Given the description of an element on the screen output the (x, y) to click on. 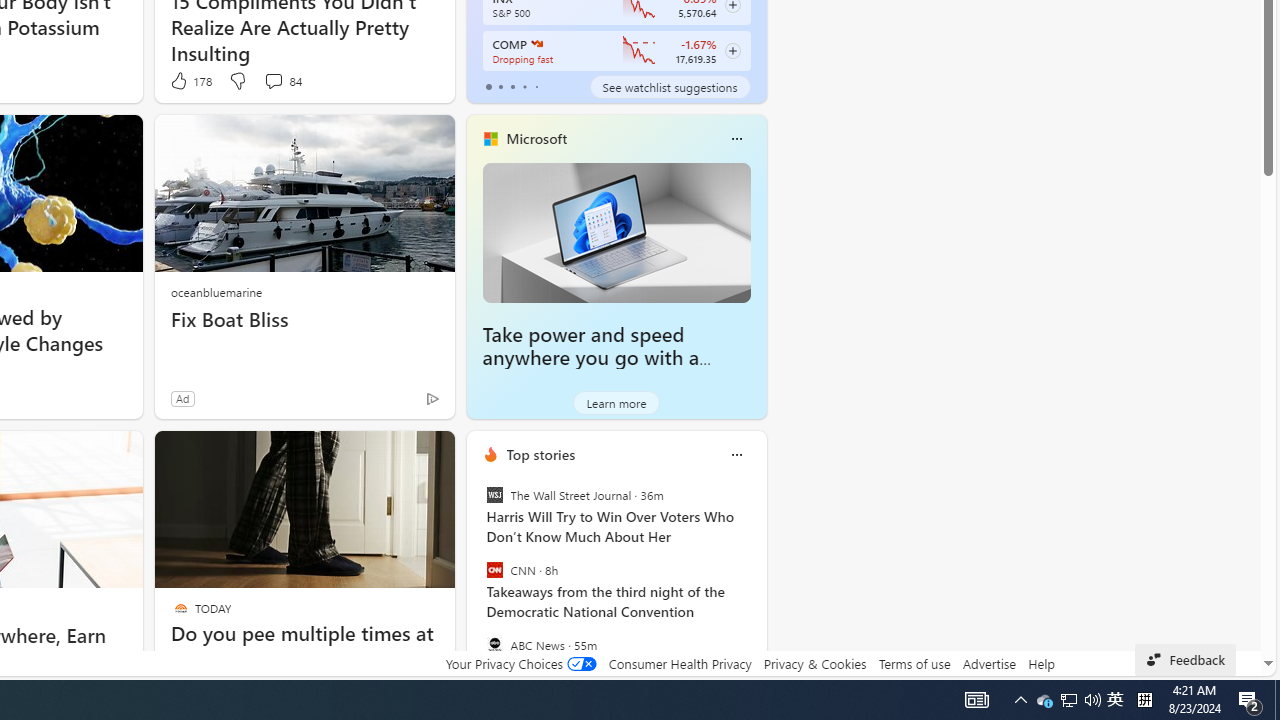
View comments 84 Comment (281, 80)
next (756, 583)
tab-2 (511, 86)
Class: icon-img (736, 454)
Learn more (616, 402)
Microsoft (536, 139)
Terms of use (914, 663)
NASDAQ (535, 43)
Consumer Health Privacy (680, 663)
See watchlist suggestions (669, 86)
